Given the description of an element on the screen output the (x, y) to click on. 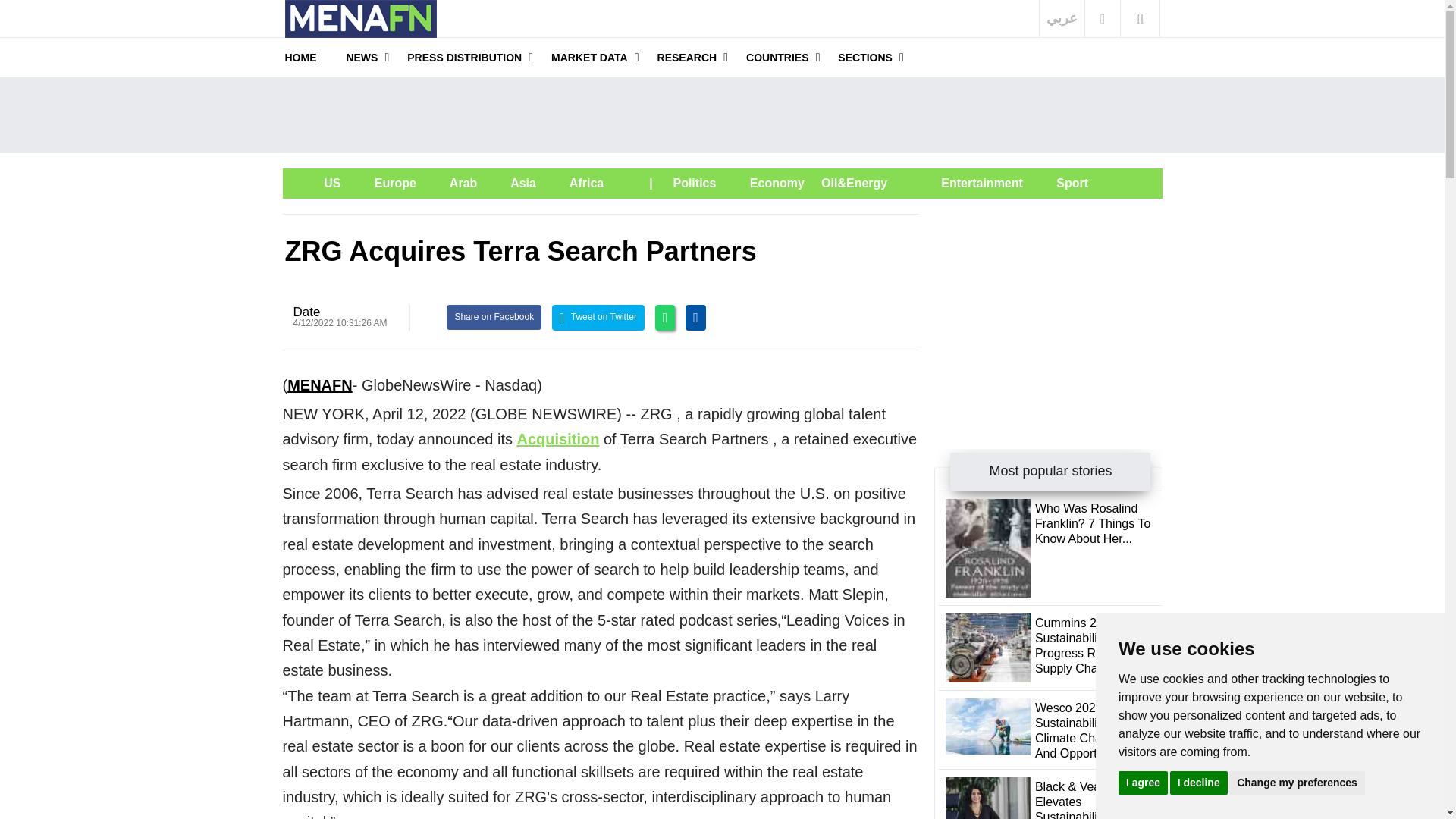
MARKET DATA (589, 56)
I decline (1198, 781)
Change my preferences (1296, 781)
I agree (1142, 781)
Advertisement (1047, 308)
Posts by NewEdge (306, 311)
PRESS DISTRIBUTION (464, 56)
